Given the description of an element on the screen output the (x, y) to click on. 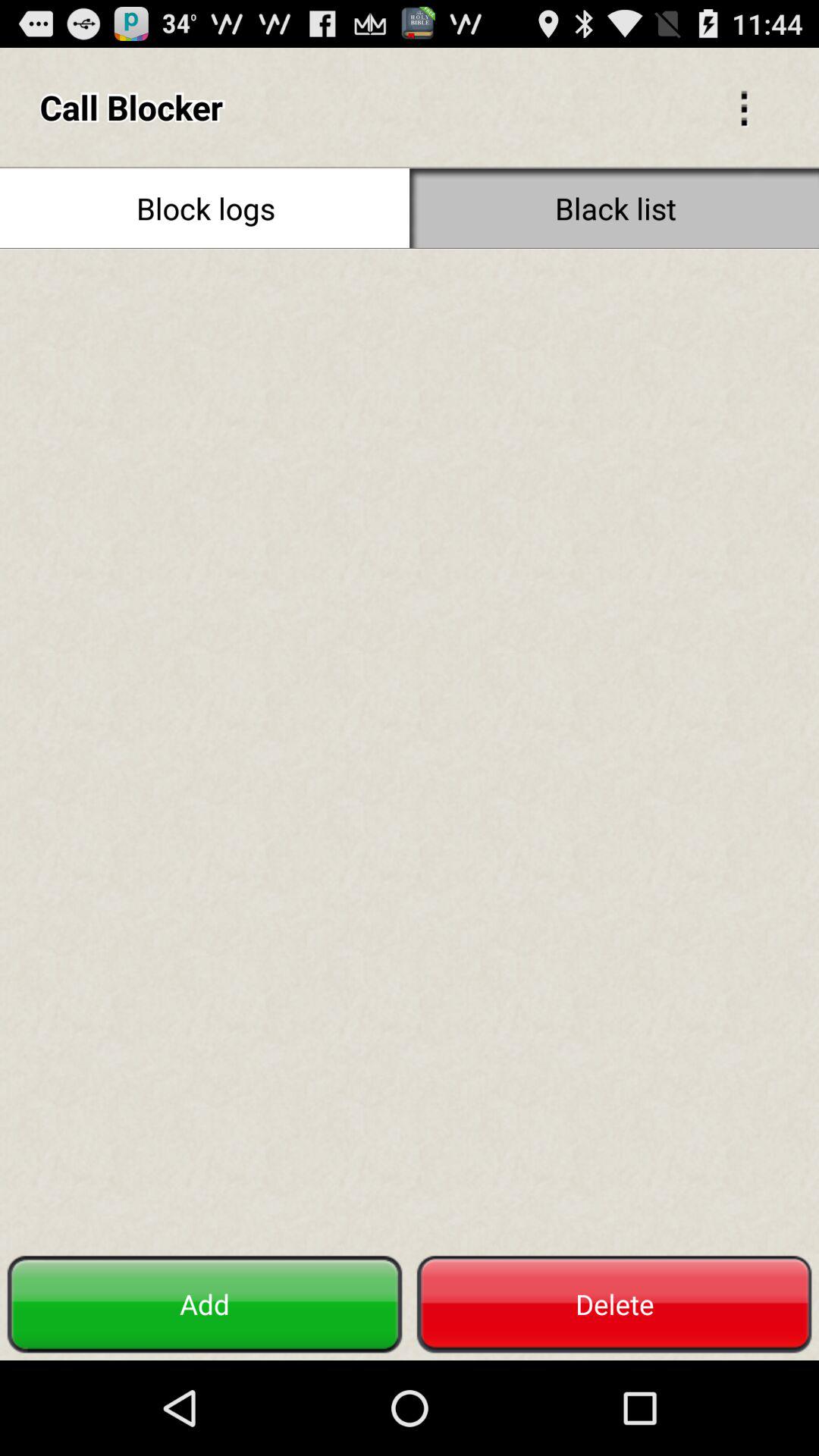
press block logs button (204, 207)
